Given the description of an element on the screen output the (x, y) to click on. 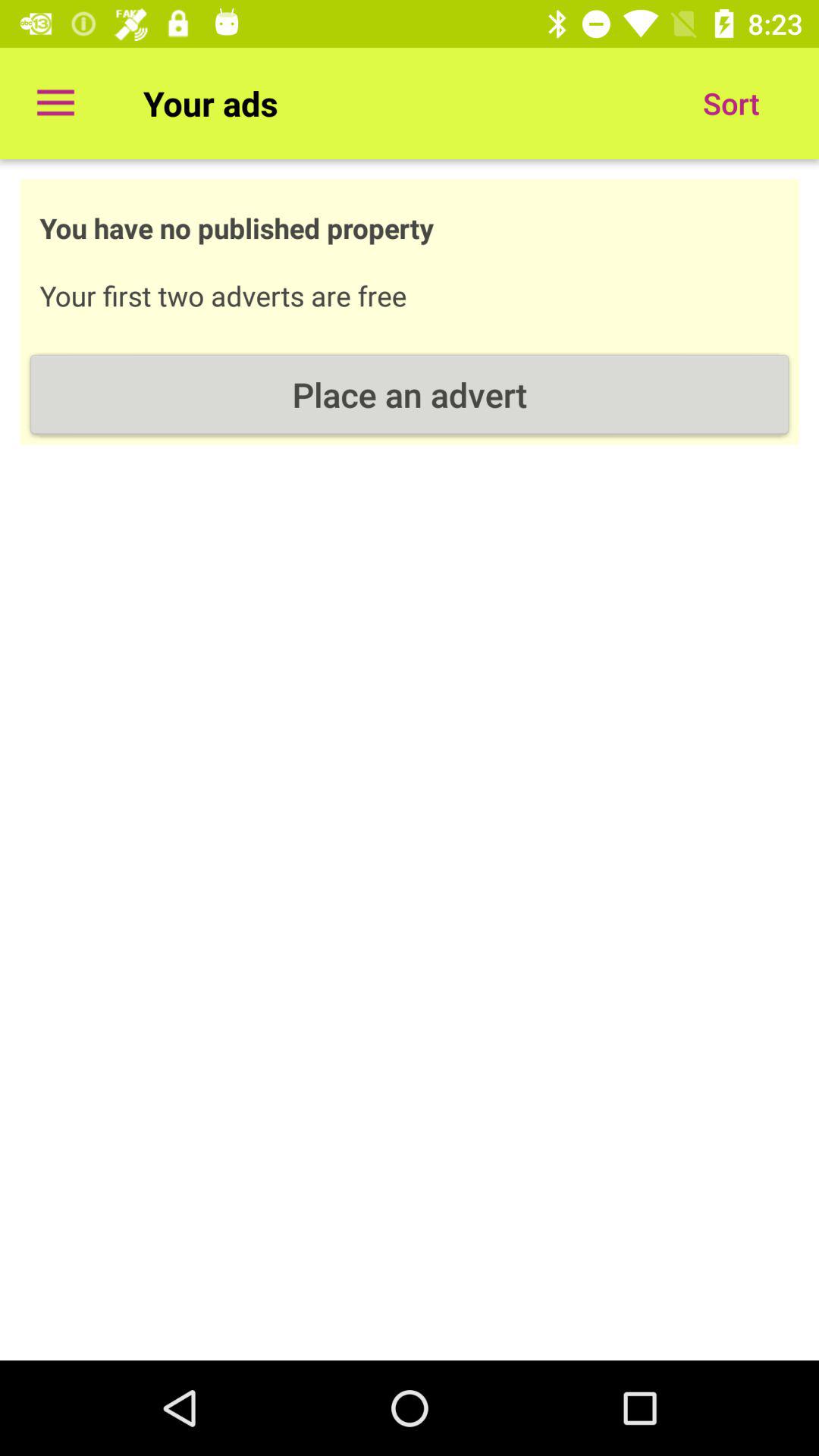
turn on place an advert (409, 394)
